Given the description of an element on the screen output the (x, y) to click on. 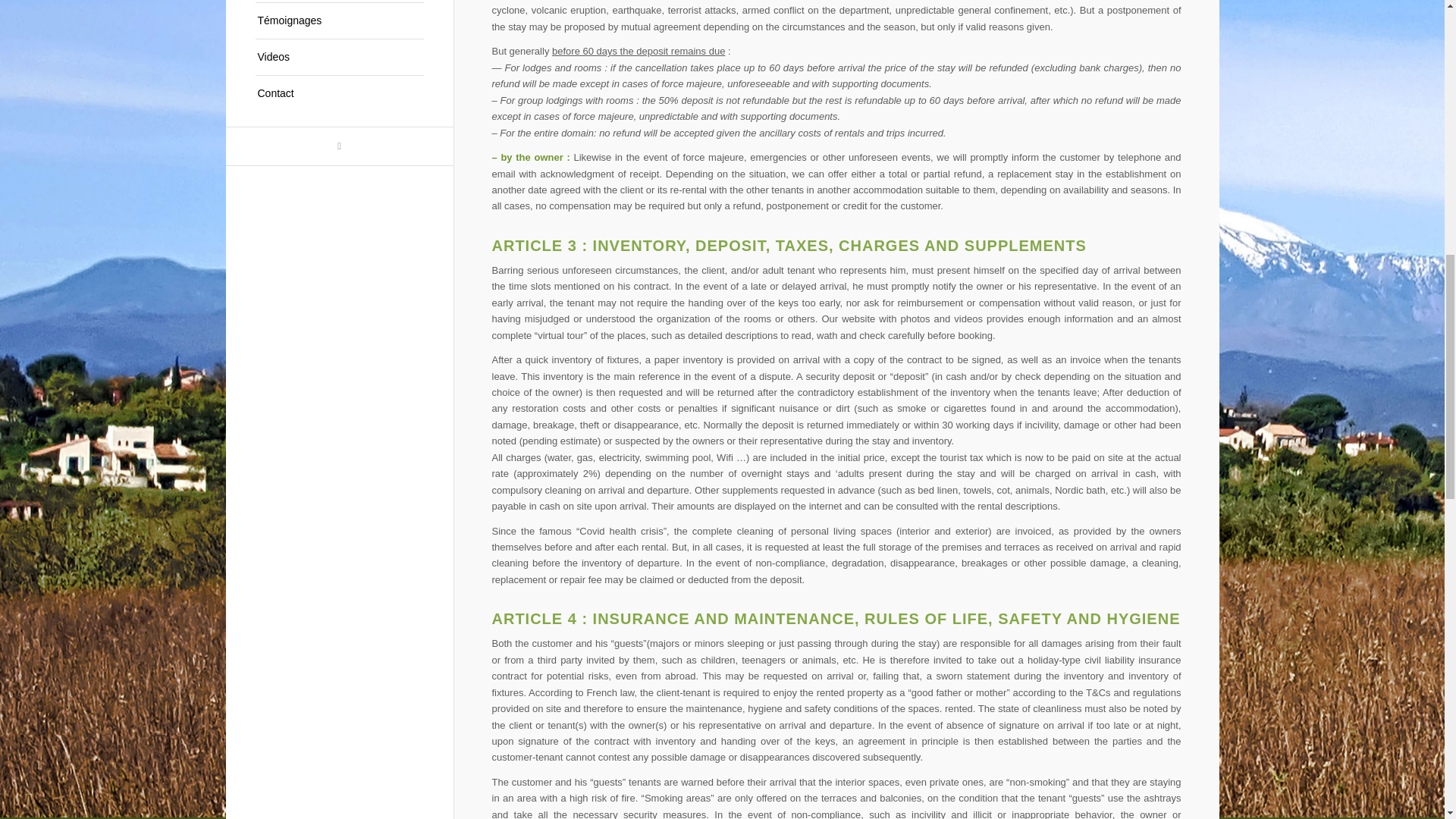
Ecological involvement (338, 1)
Telegram (338, 146)
Videos (338, 57)
Contact (338, 93)
